Given the description of an element on the screen output the (x, y) to click on. 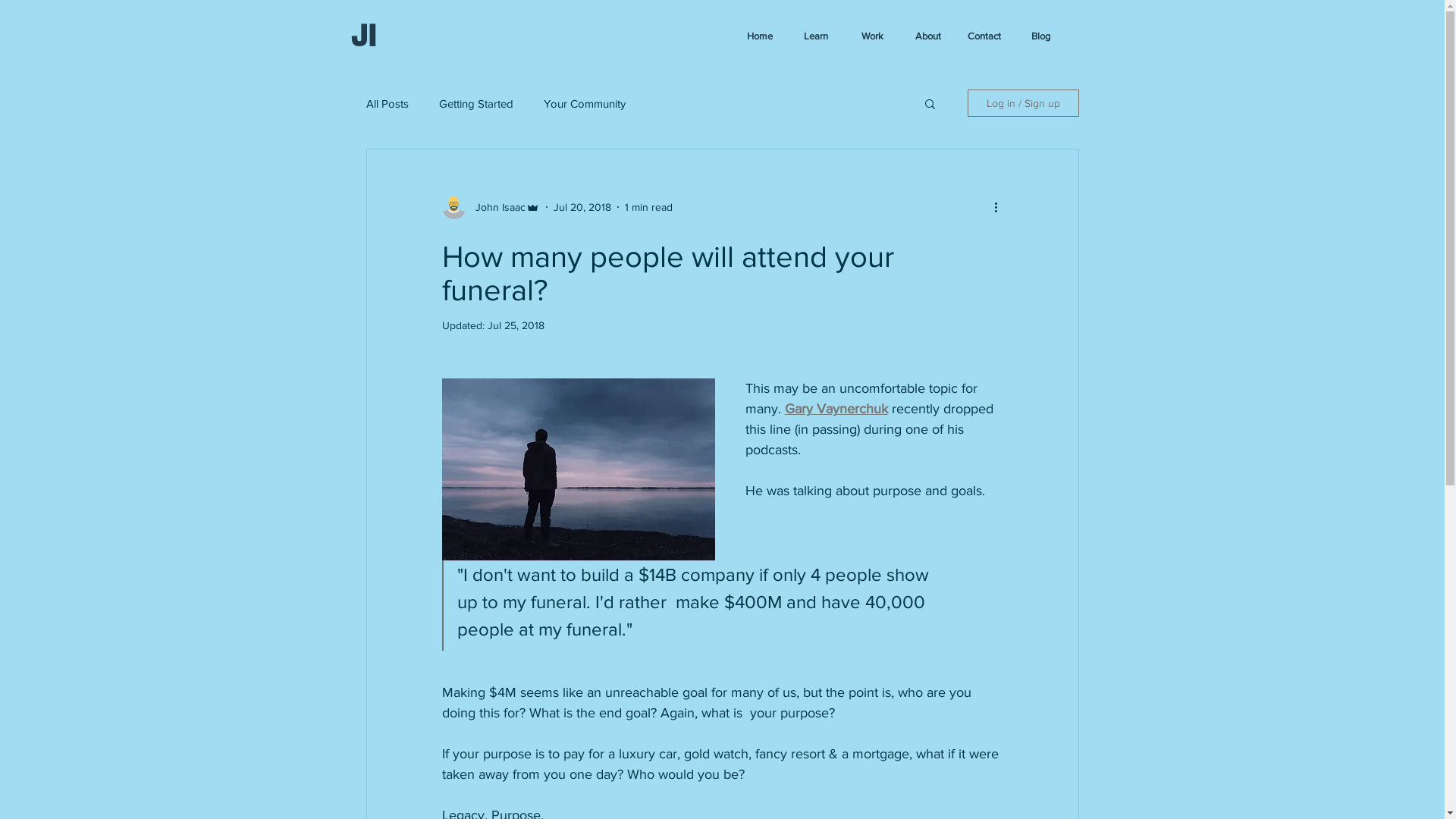
Blog Element type: text (1040, 36)
Gary Vaynerchuk Element type: text (835, 408)
Work Element type: text (872, 36)
About Element type: text (928, 36)
Log in / Sign up Element type: text (1023, 102)
Learn Element type: text (815, 36)
JI Element type: text (362, 35)
Contact Element type: text (984, 36)
Home Element type: text (759, 36)
